Given the description of an element on the screen output the (x, y) to click on. 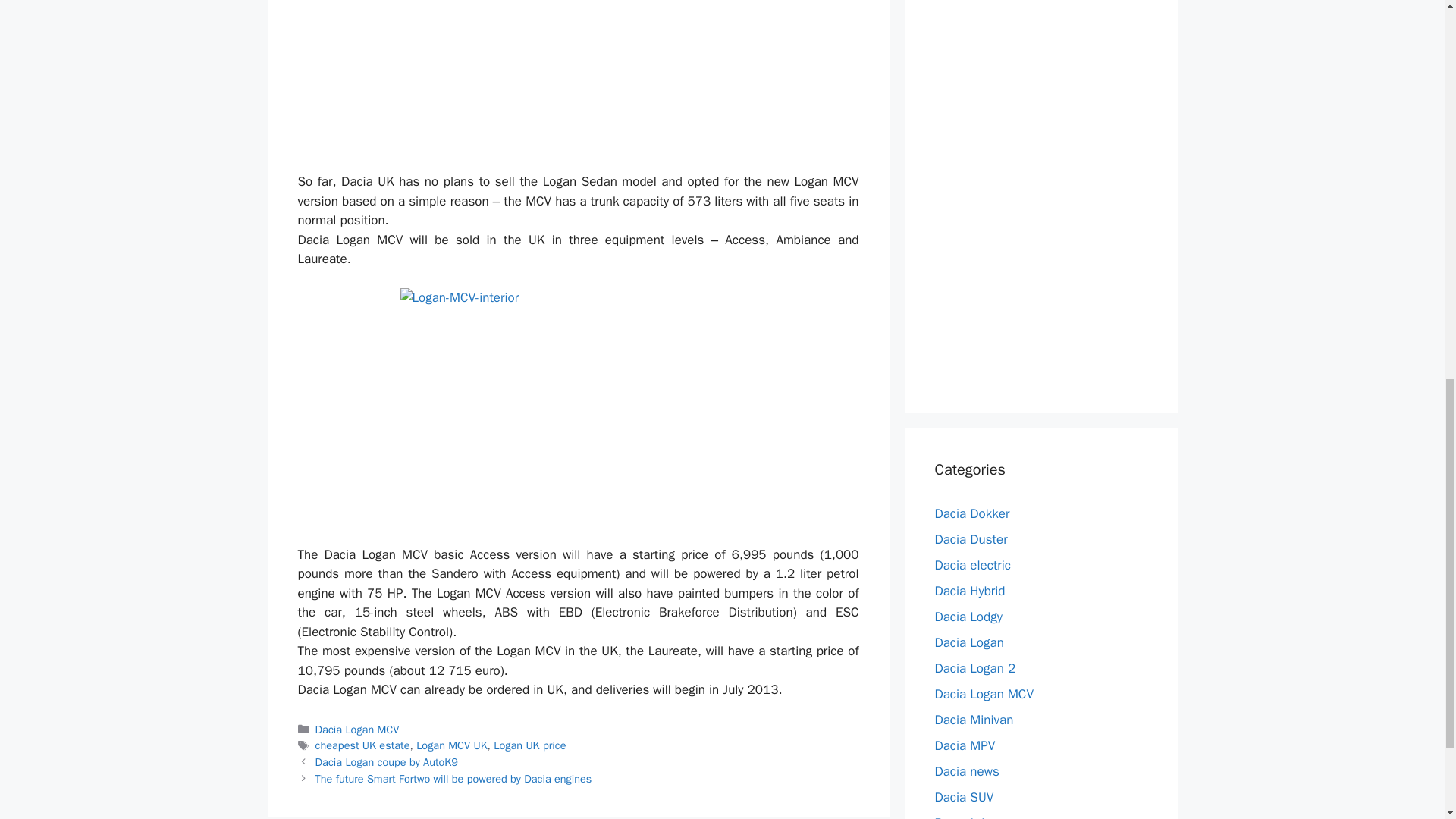
Logan-MCV-back (578, 76)
Dacia Logan MCV (356, 729)
Dacia Logan 2 (974, 667)
Dacia news (966, 770)
Dacia SUV (963, 796)
Dacia Logan MCV (983, 693)
Dacia Dokker (971, 512)
Logan-MCV-interior (578, 406)
Dacia Lodgy (967, 616)
The future Smart Fortwo will be powered by Dacia engines (453, 778)
Logan UK price (529, 745)
Dacia Duster (970, 538)
Dacia Logan (968, 641)
Dacia electric (972, 564)
Dacia Minivan (973, 719)
